Given the description of an element on the screen output the (x, y) to click on. 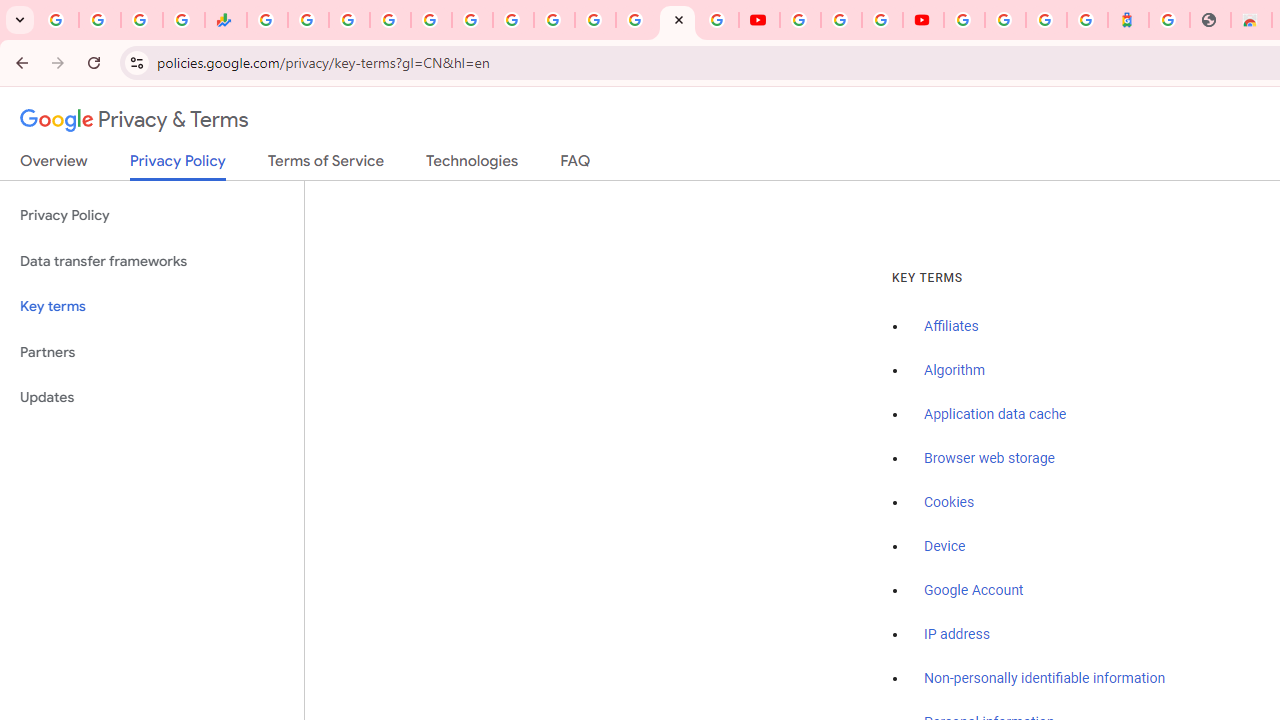
YouTube (799, 20)
Google Account Help (840, 20)
Privacy Checkup (717, 20)
Google Workspace Admin Community (58, 20)
Atour Hotel - Google hotels (1128, 20)
Google Account (974, 590)
